Given the description of an element on the screen output the (x, y) to click on. 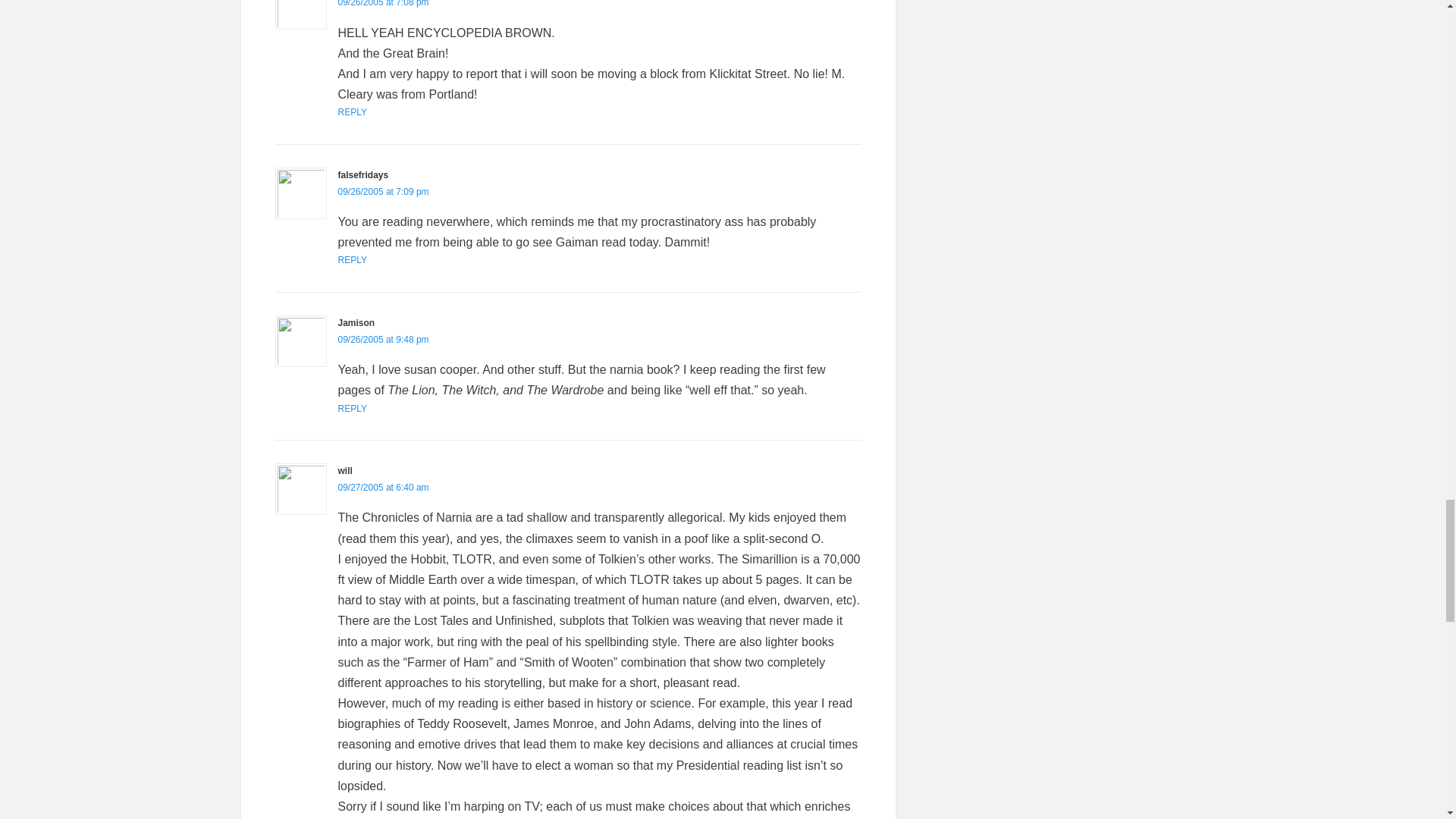
falsefridays (362, 174)
REPLY (351, 112)
REPLY (351, 259)
